Given the description of an element on the screen output the (x, y) to click on. 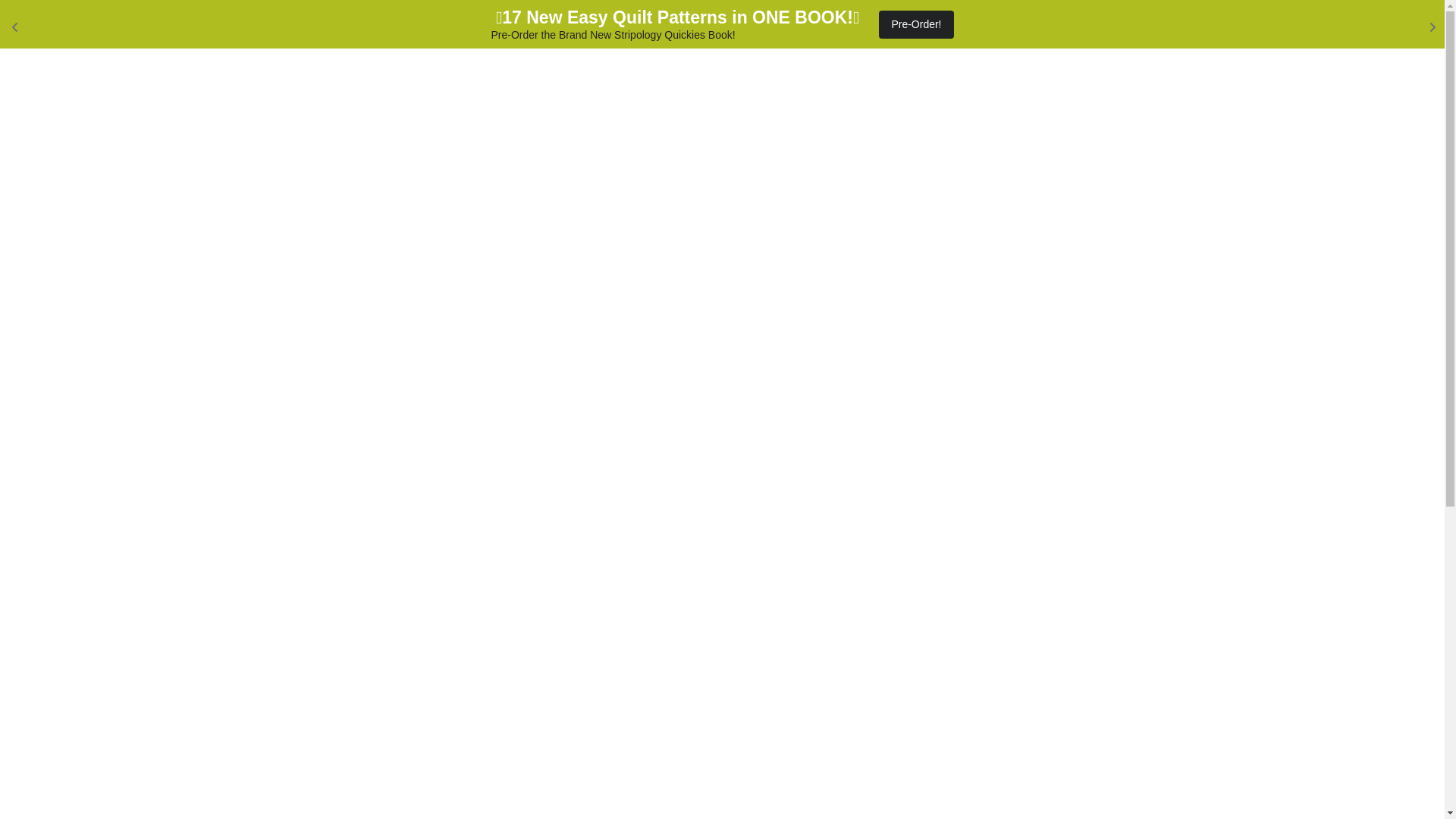
Pre-Order! (916, 24)
